Given the description of an element on the screen output the (x, y) to click on. 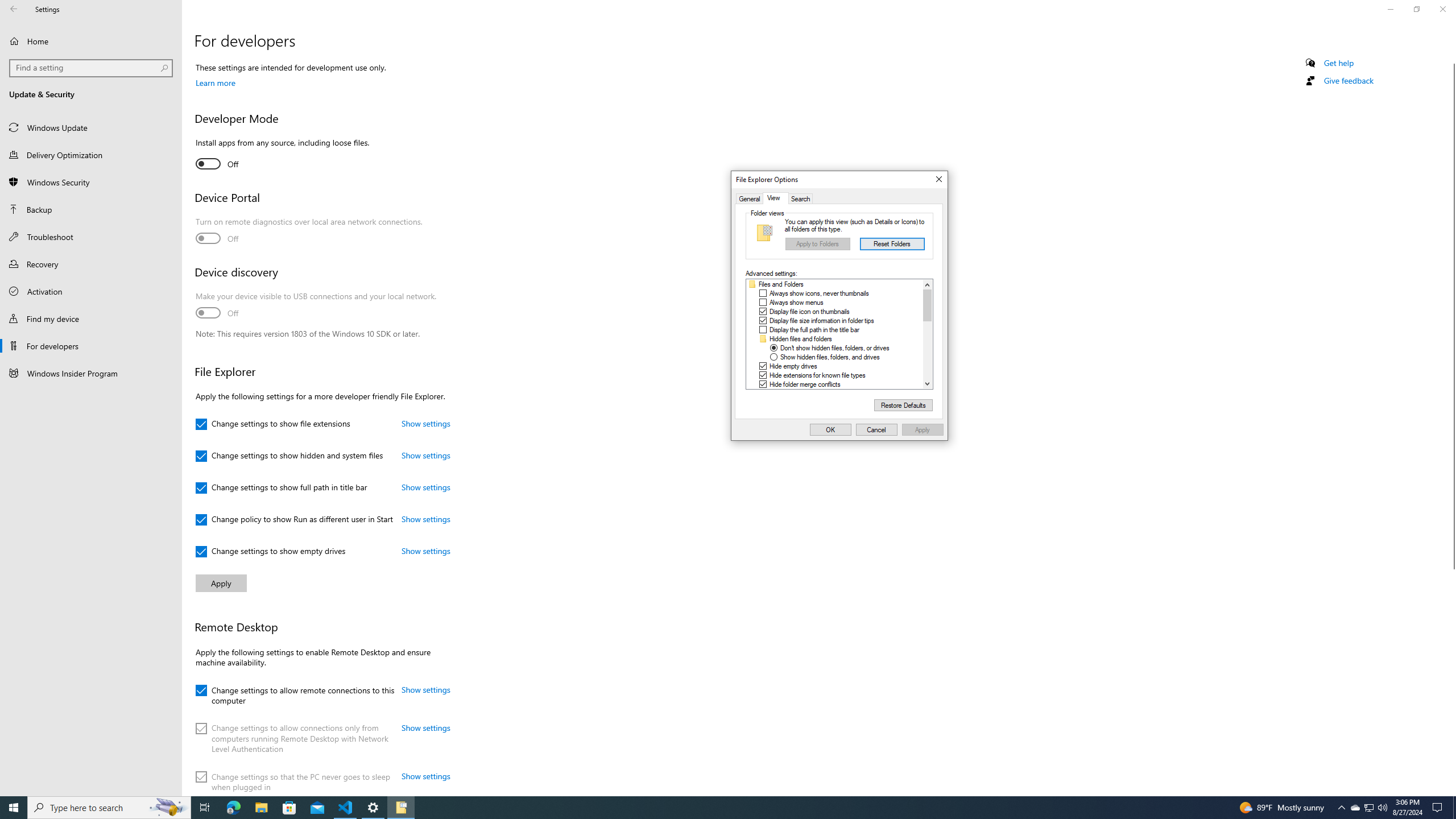
OK (830, 429)
Always show icons, never thumbnails (819, 293)
General (749, 198)
Search (800, 198)
Settings - 1 running window (373, 807)
Files and Folders (781, 284)
User Promoted Notification Area (1368, 807)
Running applications (717, 807)
Hide empty drives (793, 366)
Apply to Folders (817, 243)
Show desktop (1454, 807)
Reset Folders (892, 243)
Line down (927, 383)
Always show menus (796, 302)
Display file icon on thumbnails (809, 311)
